Given the description of an element on the screen output the (x, y) to click on. 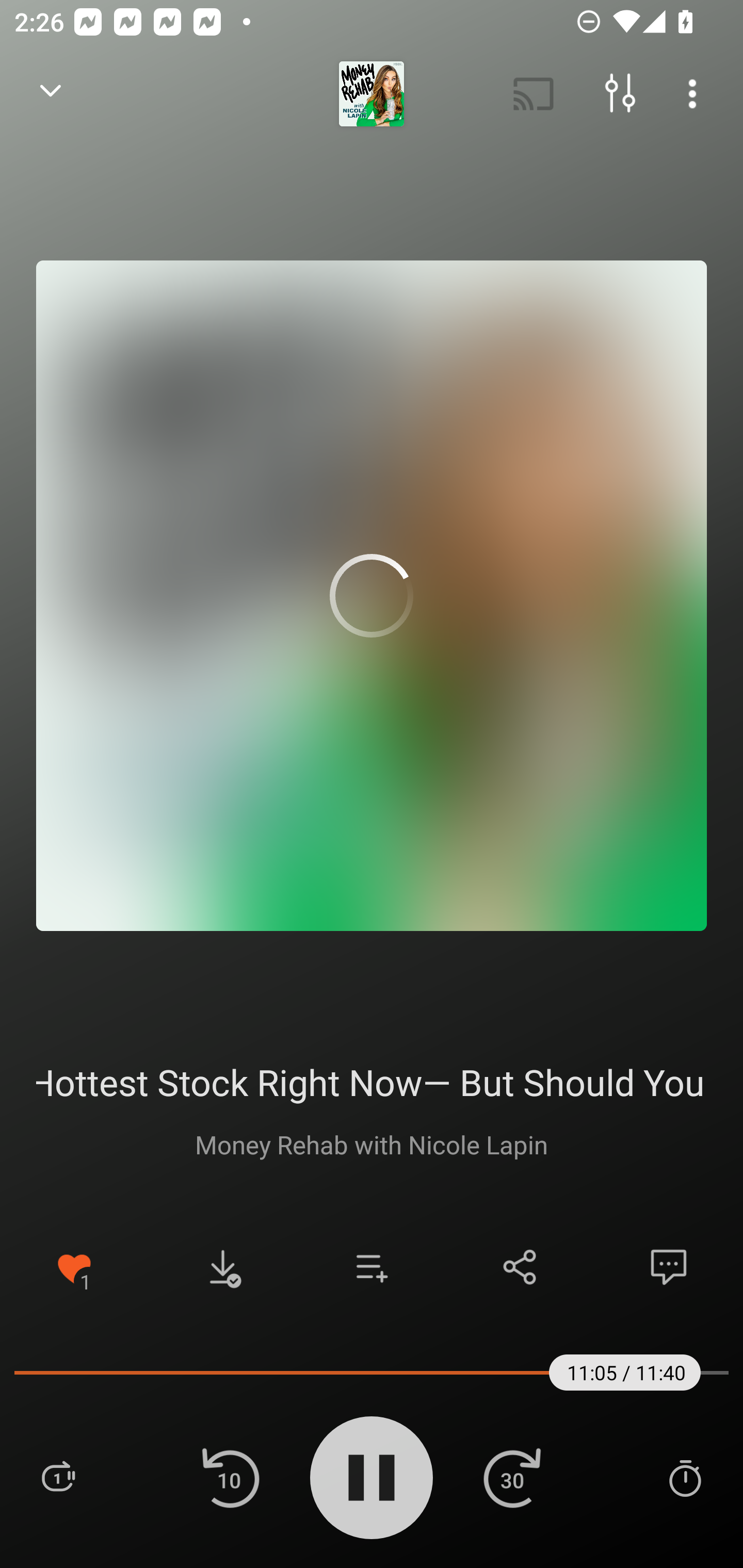
Cast. Disconnected (533, 93)
 Back (50, 94)
Money Rehab with Nicole Lapin (371, 1144)
Comments (668, 1266)
Remove from Favorites (73, 1266)
Add to playlist (371, 1266)
Share (519, 1266)
 Playlist (57, 1477)
Sleep Timer  (684, 1477)
